Given the description of an element on the screen output the (x, y) to click on. 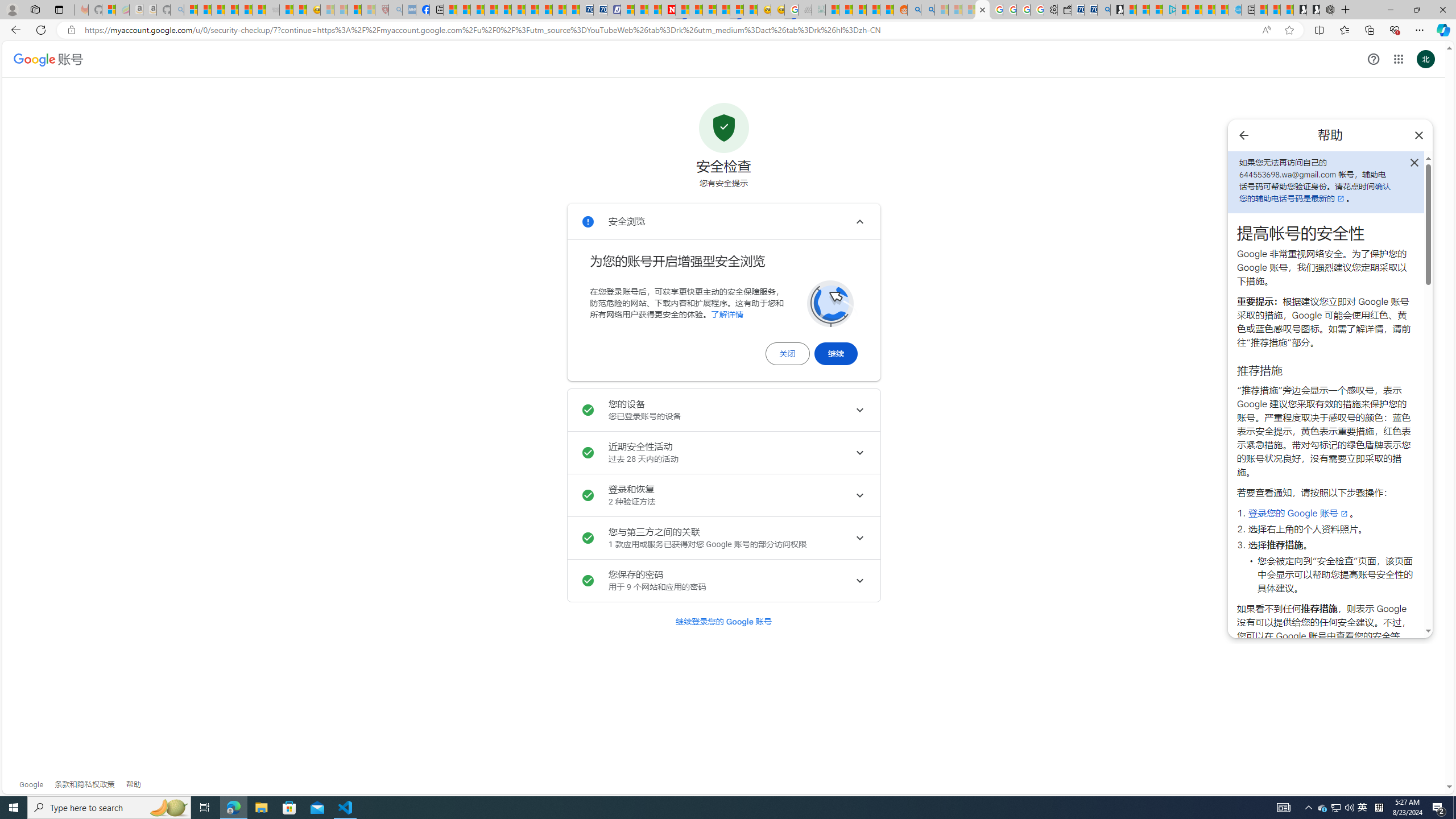
Combat Siege - Sleeping (271, 9)
Newsweek - News, Analysis, Politics, Business, Technology (667, 9)
14 Common Myths Debunked By Scientific Facts (695, 9)
